Given the description of an element on the screen output the (x, y) to click on. 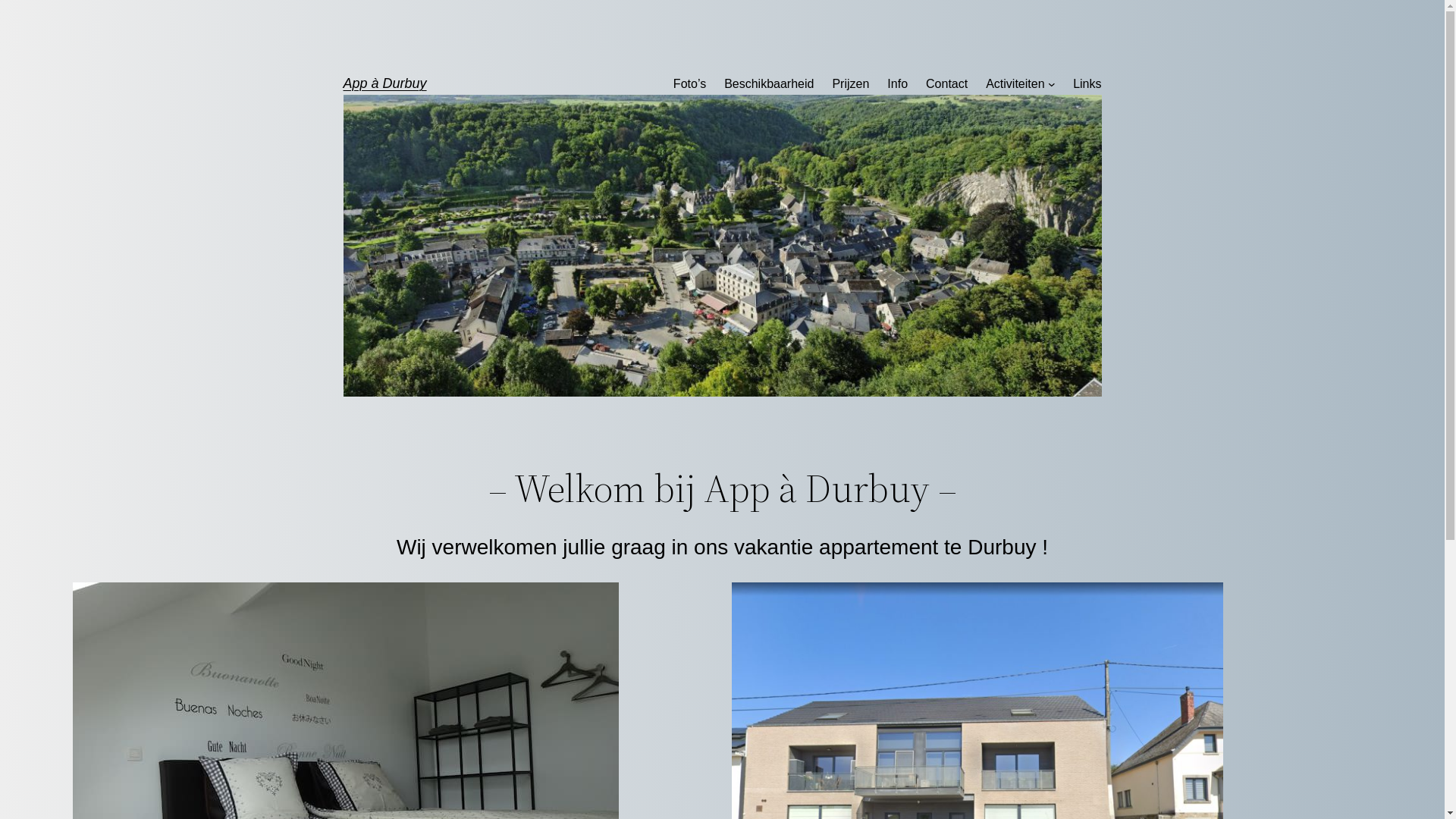
Links Element type: text (1087, 84)
Activiteiten Element type: text (1014, 84)
Contact Element type: text (946, 84)
Prijzen Element type: text (850, 84)
Info Element type: text (897, 84)
Beschikbaarheid Element type: text (768, 84)
